Given the description of an element on the screen output the (x, y) to click on. 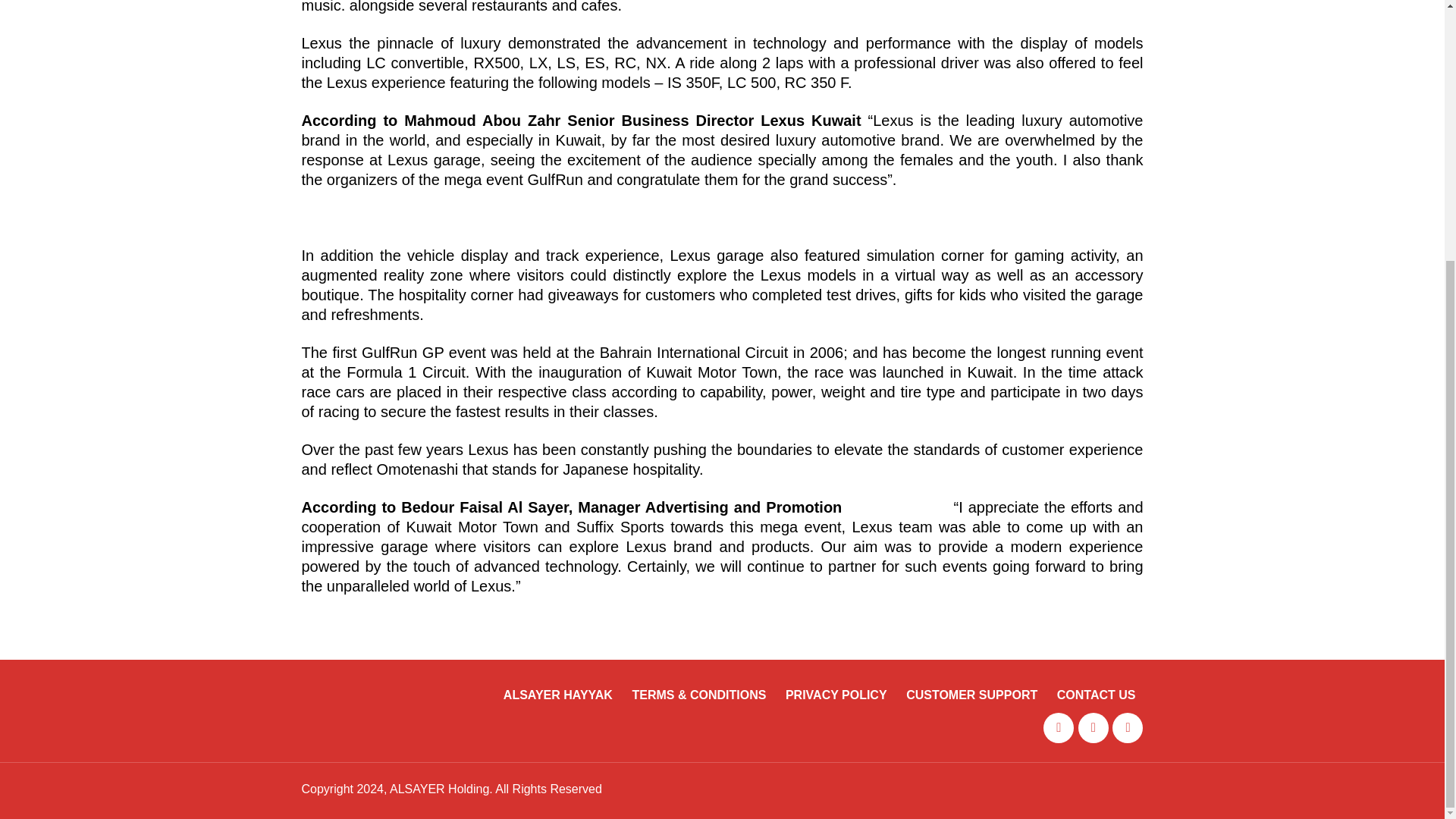
CONTACT US (1096, 694)
CUSTOMER SUPPORT (970, 694)
ALSAYER HAYYAK (557, 694)
PRIVACY POLICY (836, 694)
